Given the description of an element on the screen output the (x, y) to click on. 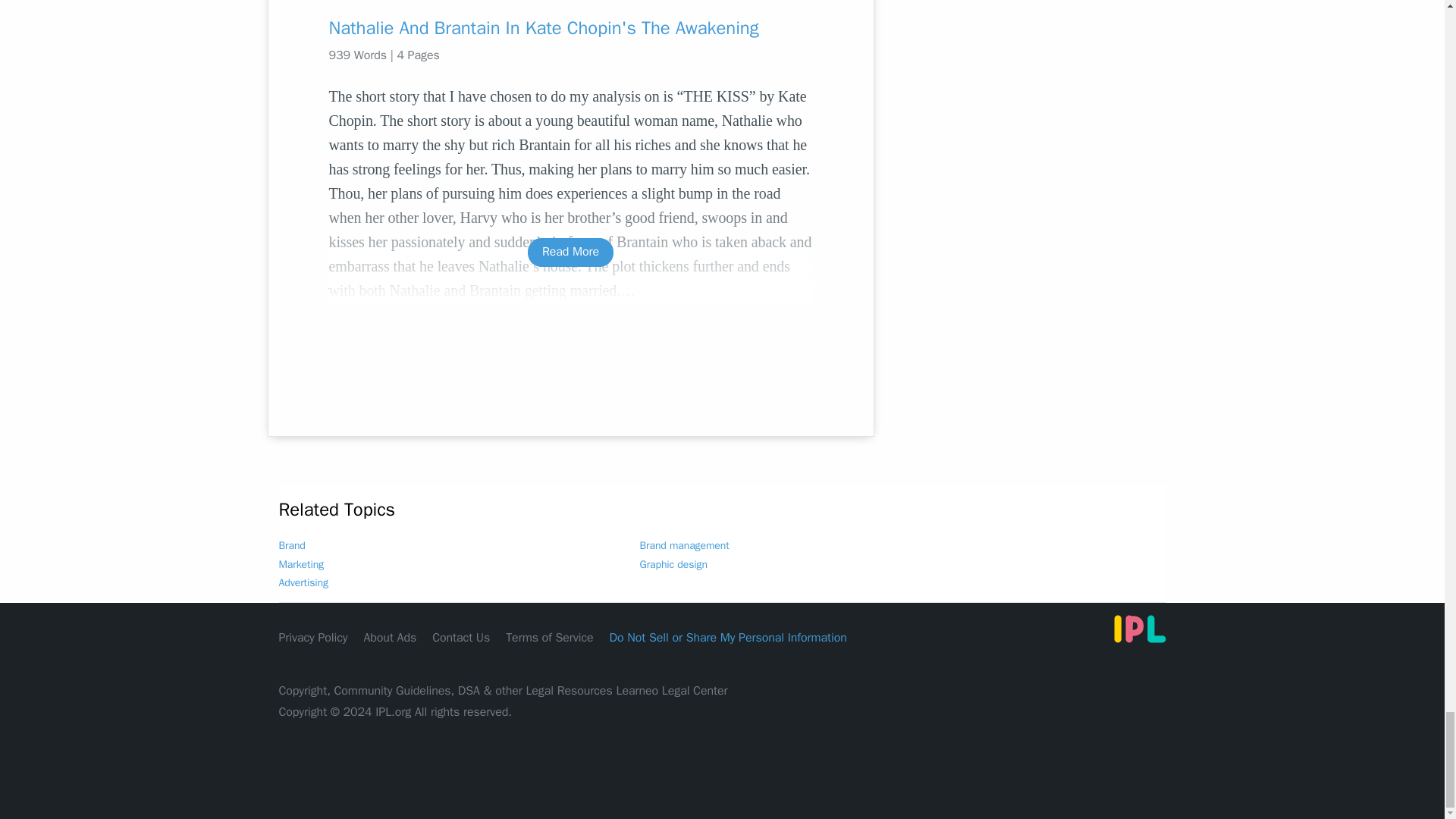
Advertising (304, 582)
About Ads (389, 637)
Terms of Service (548, 637)
Privacy Policy (313, 637)
Brand management (684, 545)
Contact Us (460, 637)
Brand (292, 545)
Marketing (301, 563)
Graphic design (673, 563)
